Given the description of an element on the screen output the (x, y) to click on. 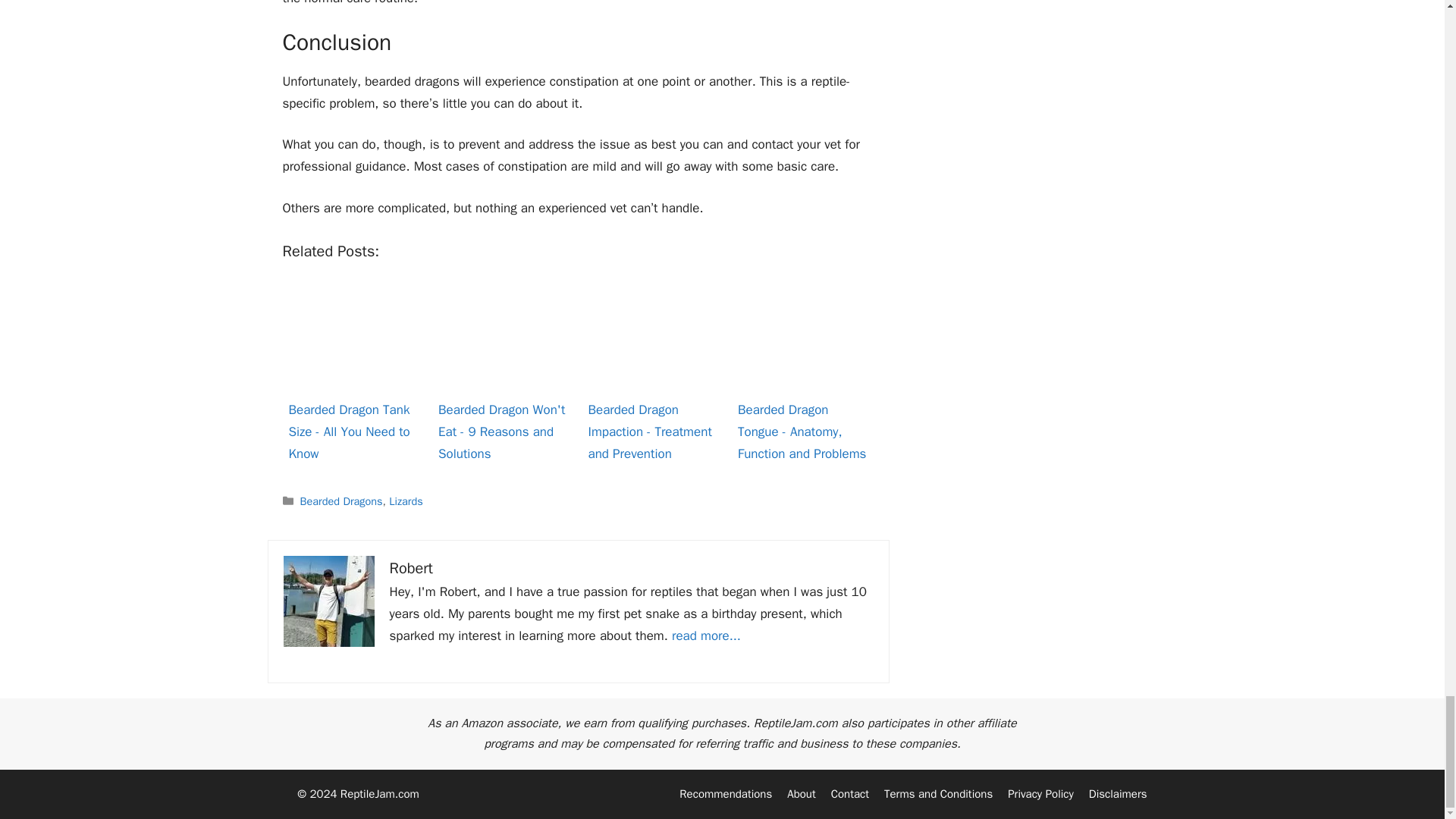
Bearded Dragon Impaction - Treatment and Prevention (652, 338)
Bearded Dragon Won't Eat - 9 Reasons and Solutions (502, 338)
Bearded Dragon Tongue - Anatomy, Function and Problems (802, 338)
Read more (706, 635)
Bearded Dragon Tank Size - All You Need to Know (353, 338)
